Given the description of an element on the screen output the (x, y) to click on. 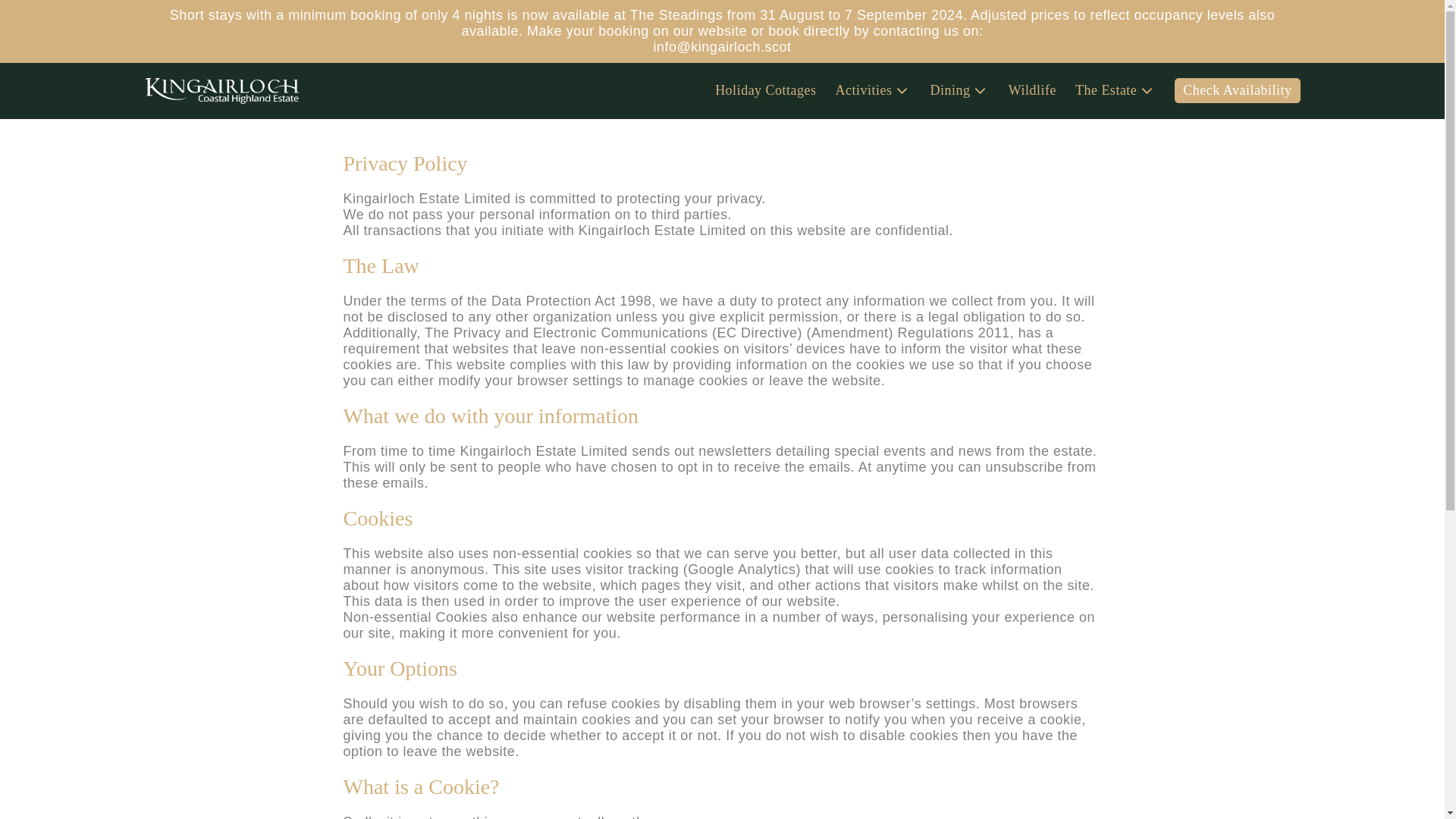
Wildlife (1033, 90)
Holiday Cottages (764, 90)
The Estate (1106, 90)
Dining (950, 90)
Activities (863, 90)
Check Availability (1237, 90)
